Given the description of an element on the screen output the (x, y) to click on. 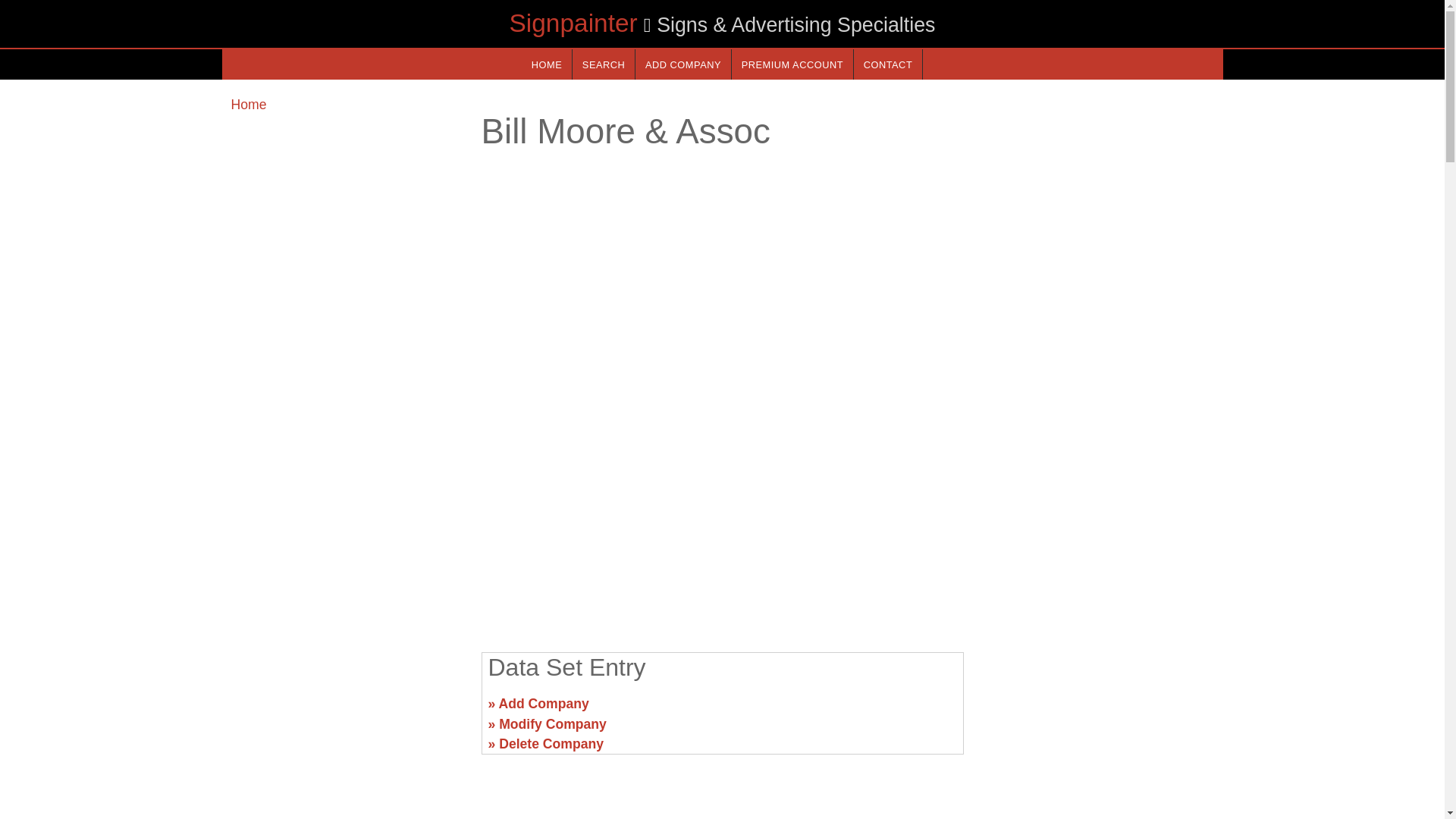
Search in this webseite. (603, 64)
CONTACT (887, 64)
Add a new company (682, 64)
ADD COMPANY (682, 64)
PREMIUM ACCOUNT (792, 64)
Premium account (792, 64)
Advertisement (721, 522)
HOME (546, 64)
Advertisement (1096, 710)
Home (248, 104)
